Given the description of an element on the screen output the (x, y) to click on. 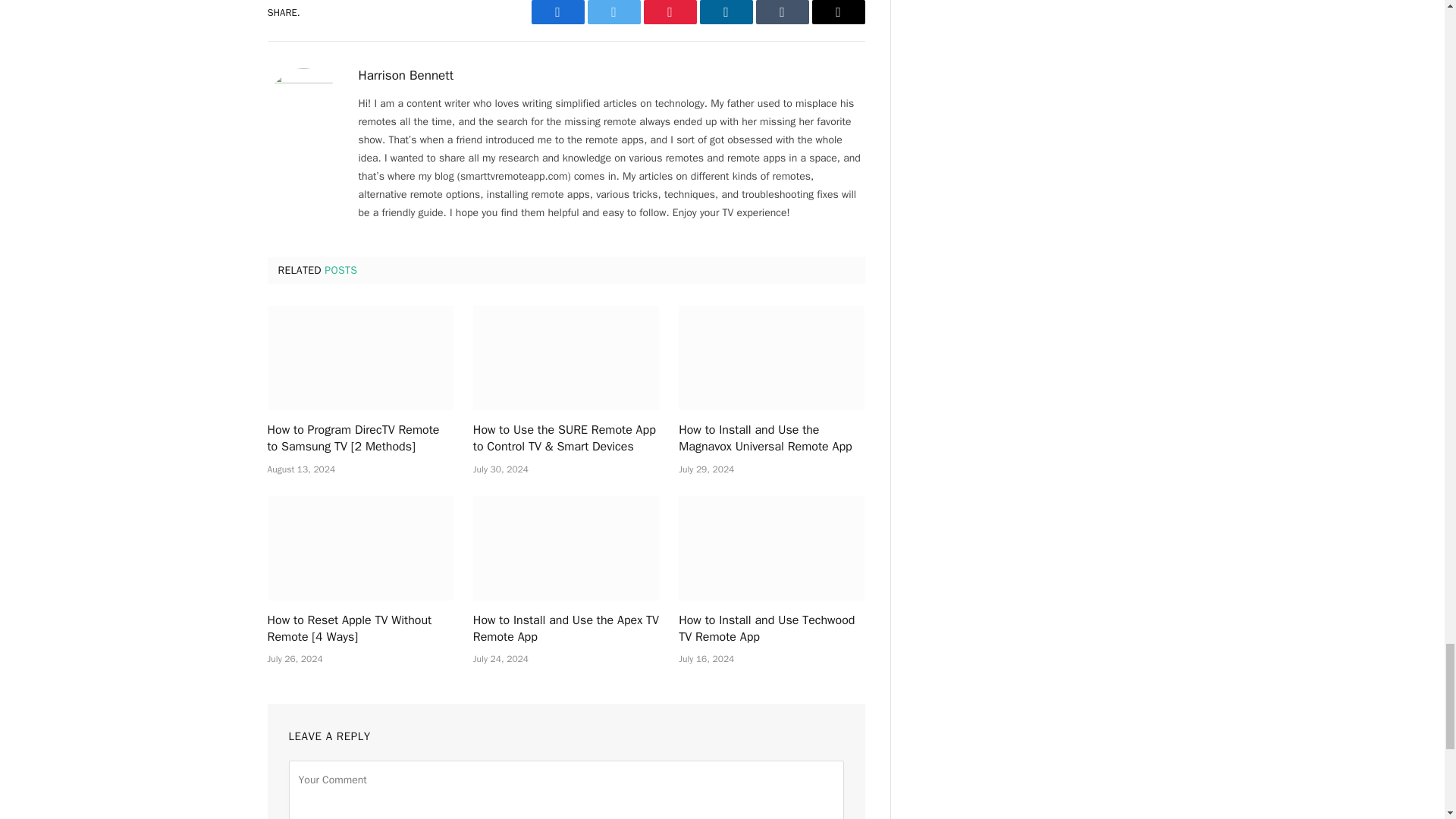
Tumblr (781, 12)
Email (837, 12)
Facebook (557, 12)
Pinterest (669, 12)
LinkedIn (725, 12)
Harrison Bennett (405, 75)
Twitter (613, 12)
